Given the description of an element on the screen output the (x, y) to click on. 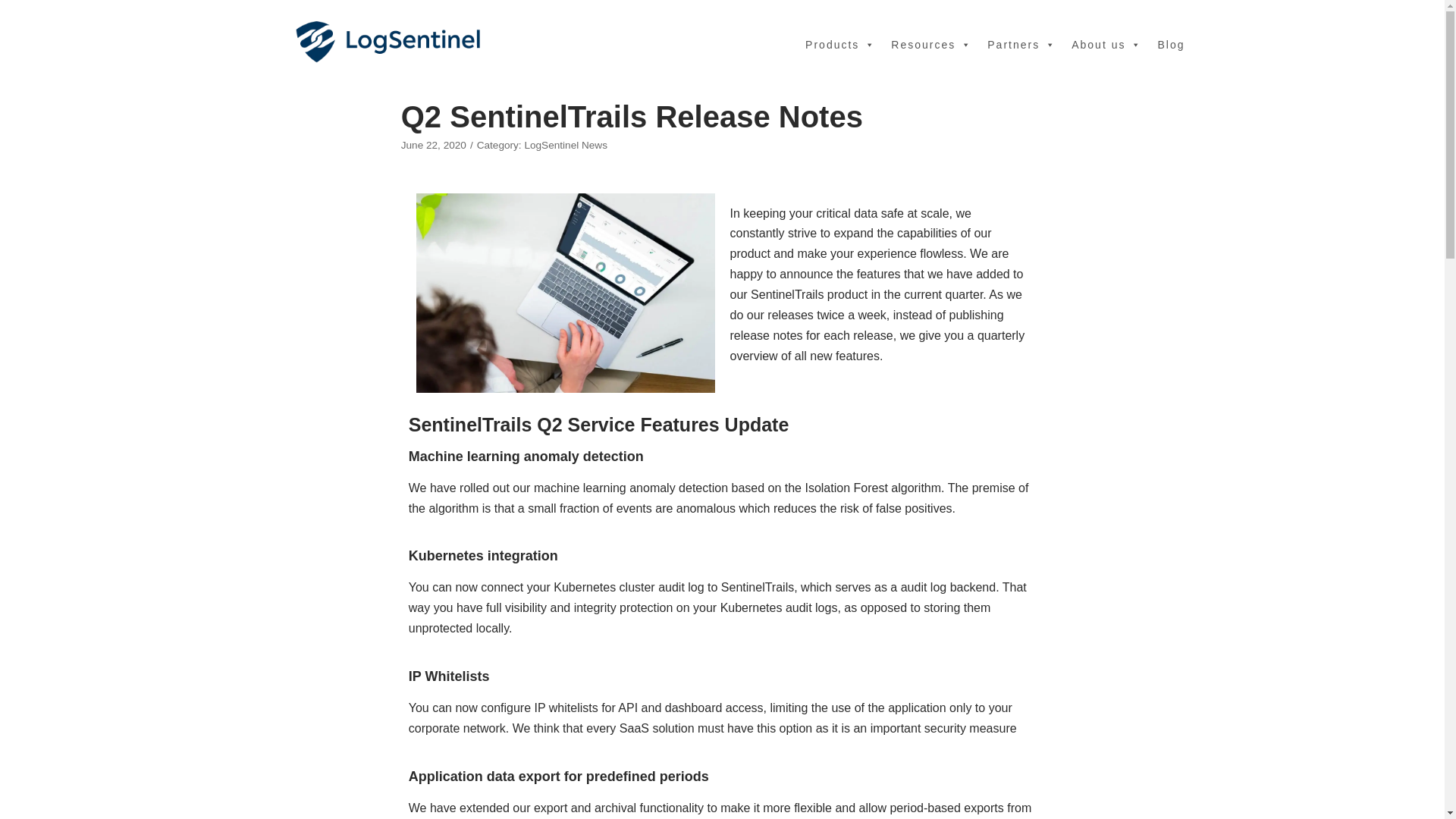
Skip to content (15, 7)
Products (840, 44)
LogSentinel (387, 44)
